Given the description of an element on the screen output the (x, y) to click on. 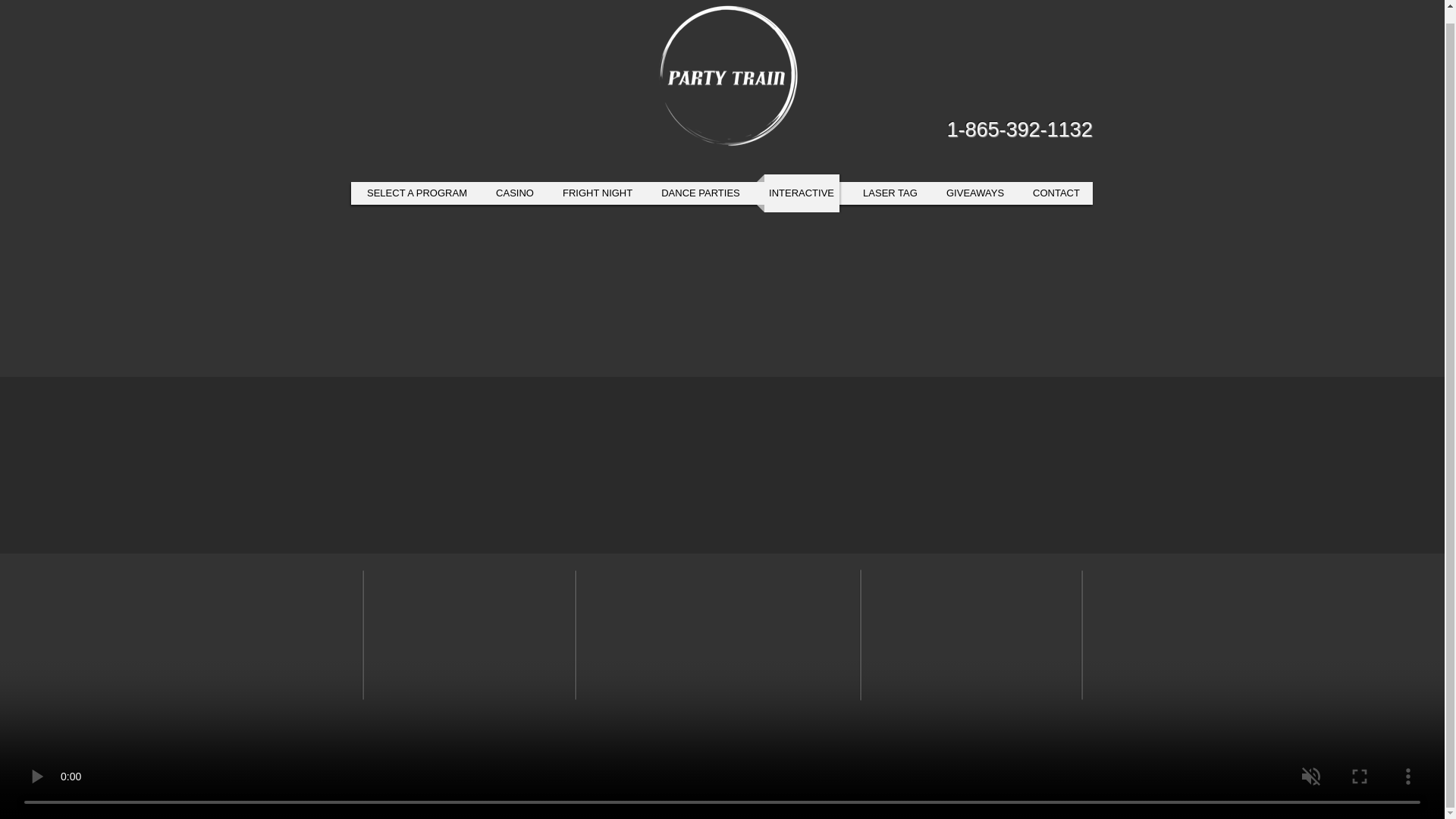
DANCE PARTIES (700, 193)
FRIGHT NIGHT (597, 193)
GIVEAWAYS (975, 193)
LASER TAG (890, 193)
CASINO (515, 193)
INTERACTIVE (802, 193)
SELECT A PROGRAM (417, 193)
